Given the description of an element on the screen output the (x, y) to click on. 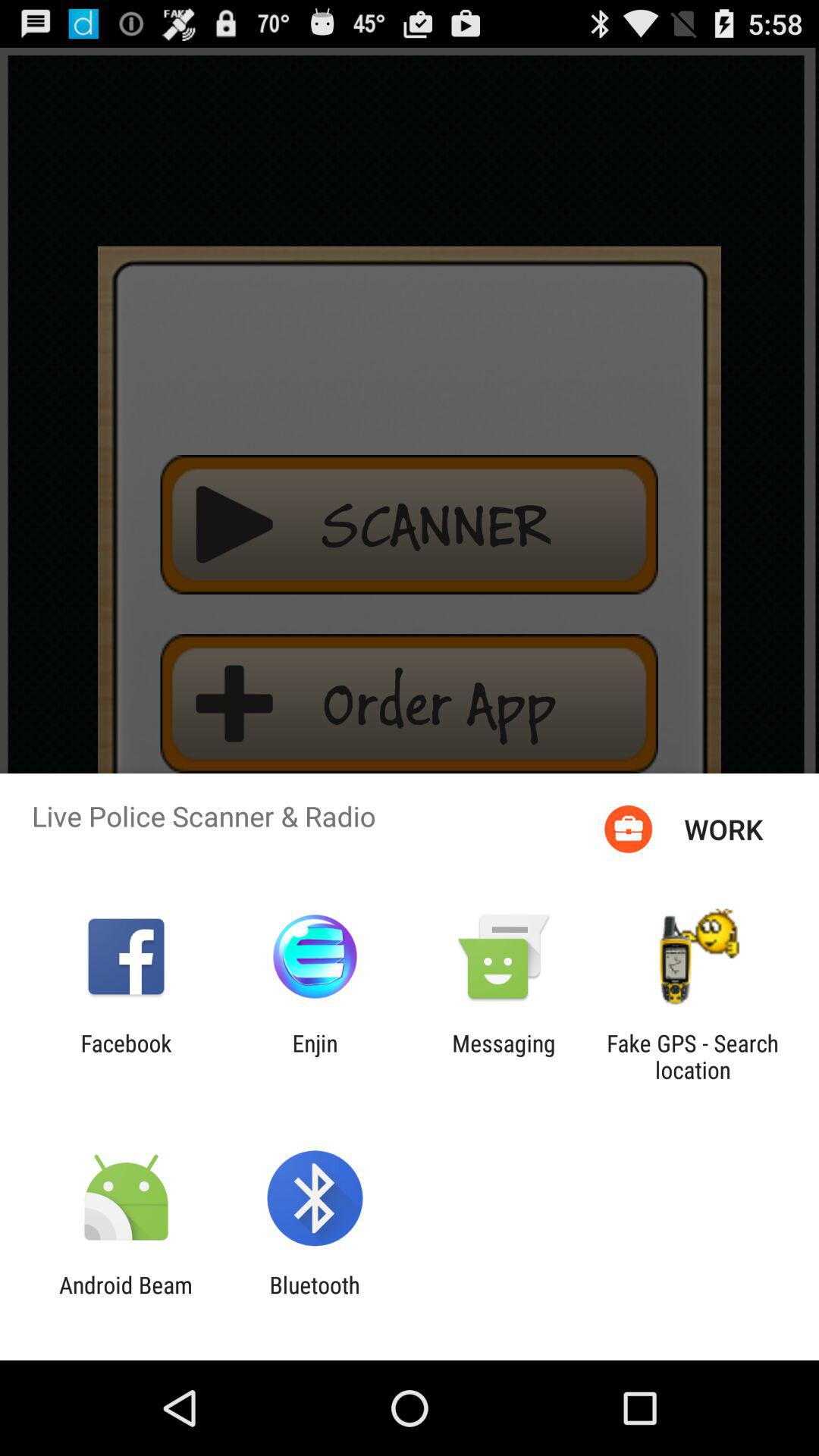
launch the fake gps search (692, 1056)
